Given the description of an element on the screen output the (x, y) to click on. 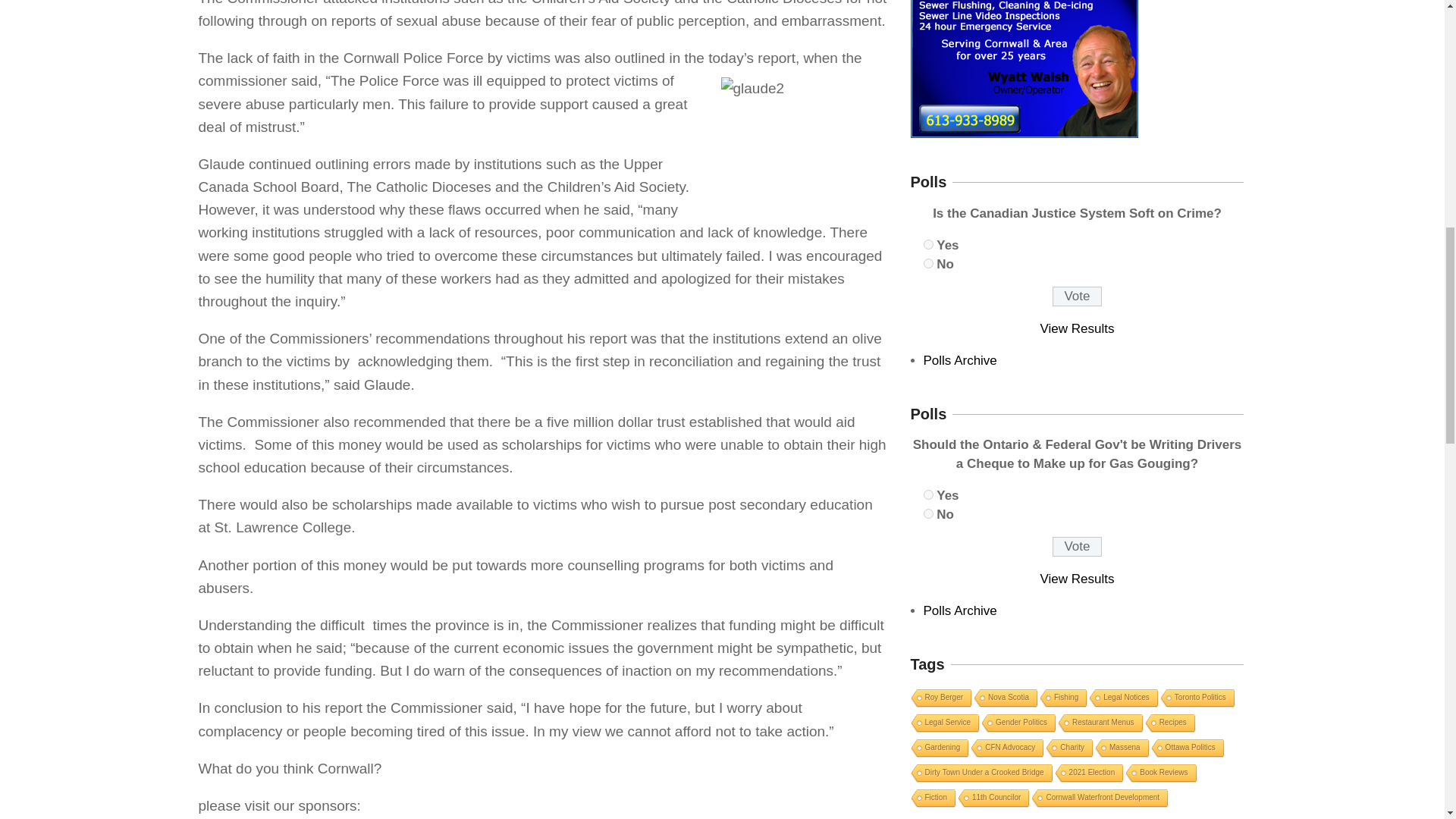
1755 (928, 263)
1763 (928, 513)
   Vote    (1076, 546)
View Results Of This Poll (1078, 328)
glaude2 (804, 139)
   Vote    (1076, 296)
View Results Of This Poll (1078, 578)
1754 (928, 244)
1762 (928, 494)
